Given the description of an element on the screen output the (x, y) to click on. 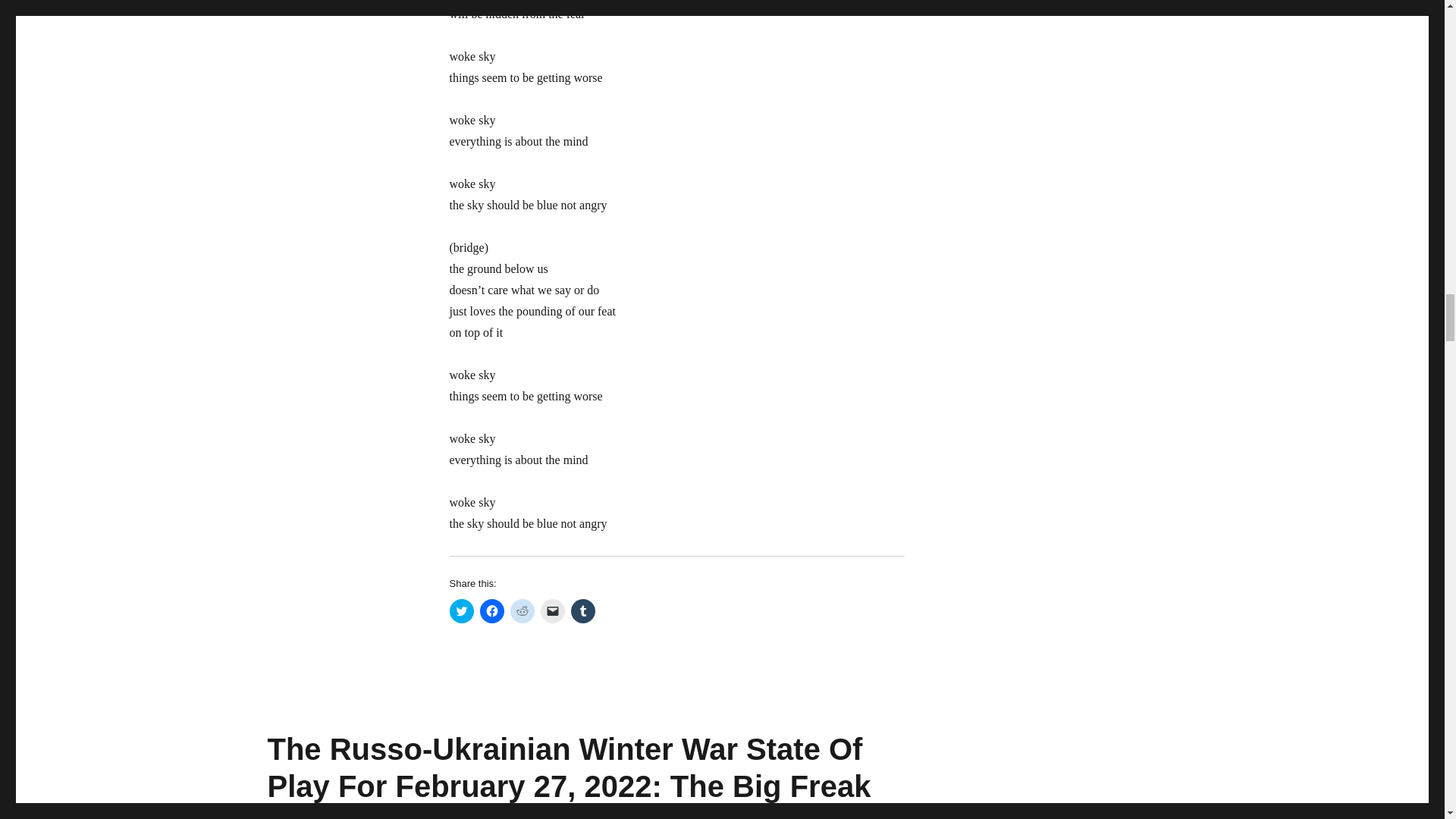
Click to share on Twitter (460, 610)
Click to share on Facebook (491, 610)
